Given the description of an element on the screen output the (x, y) to click on. 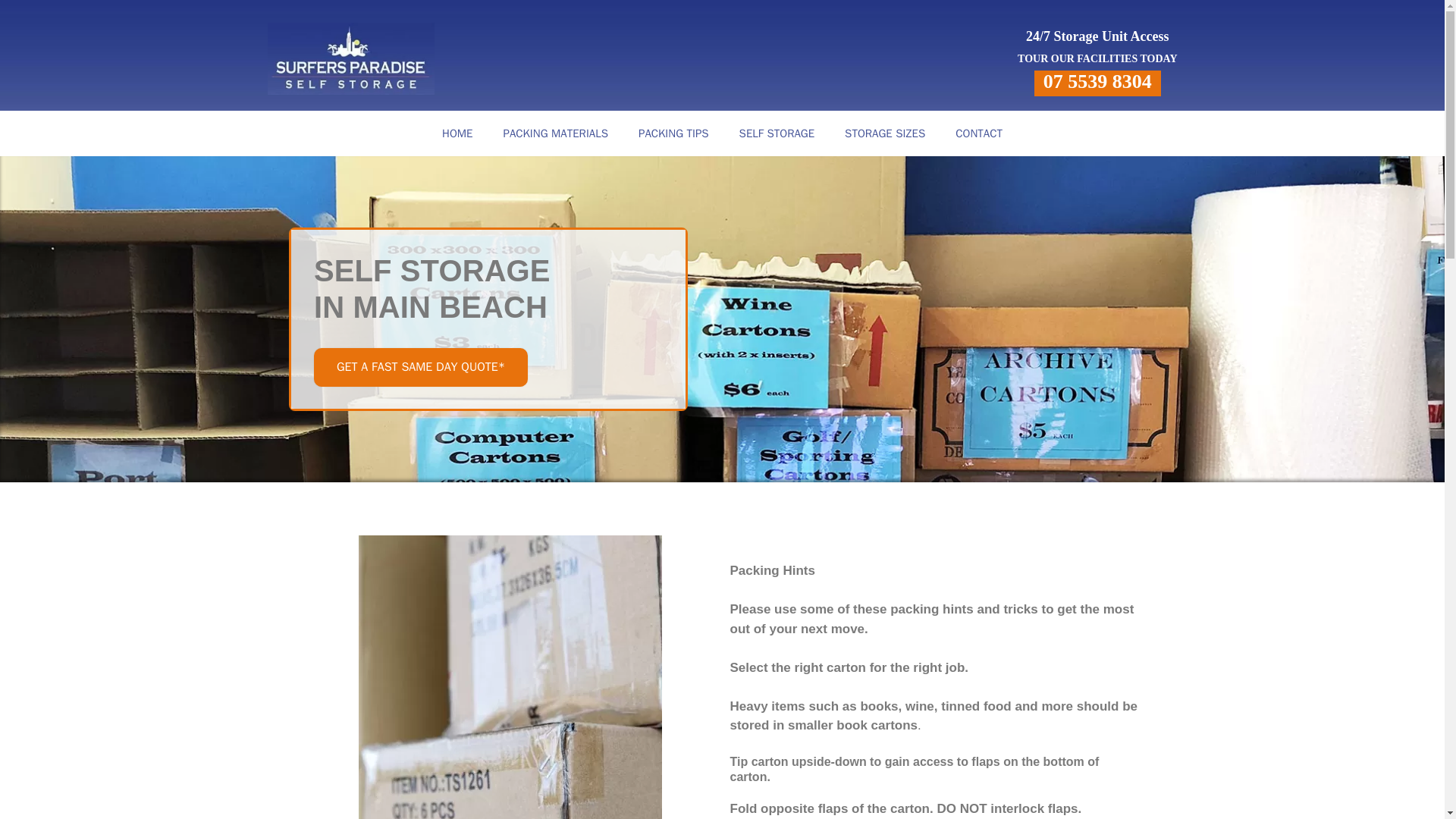
SELF STORAGE (776, 133)
07 5539 8304 (1097, 81)
packing-itips-5 (509, 677)
PACKING MATERIALS (555, 133)
HOME (456, 133)
PACKING TIPS (673, 133)
STORAGE SIZES (884, 133)
CONTACT (978, 133)
